Given the description of an element on the screen output the (x, y) to click on. 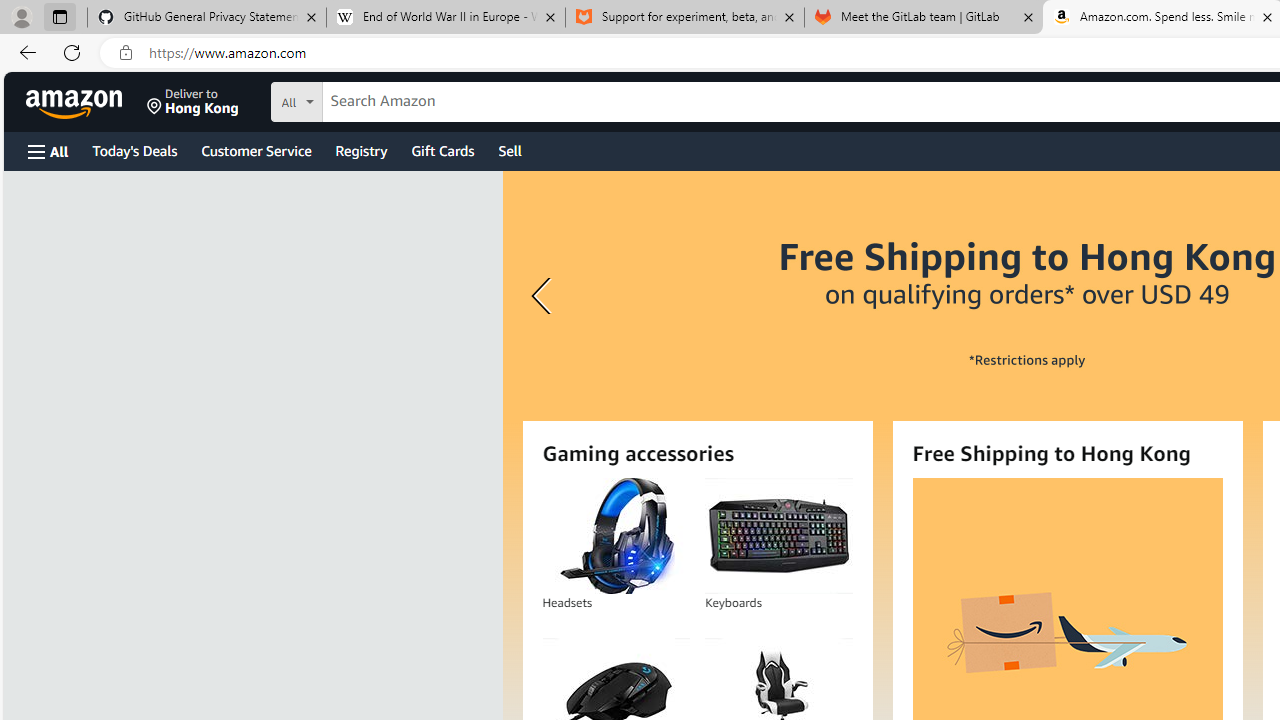
Skip to main content (86, 100)
Previous slide (544, 296)
Headsets (615, 536)
Meet the GitLab team | GitLab (924, 17)
Open Menu (48, 151)
Amazon (76, 101)
Keyboards (778, 536)
